Given the description of an element on the screen output the (x, y) to click on. 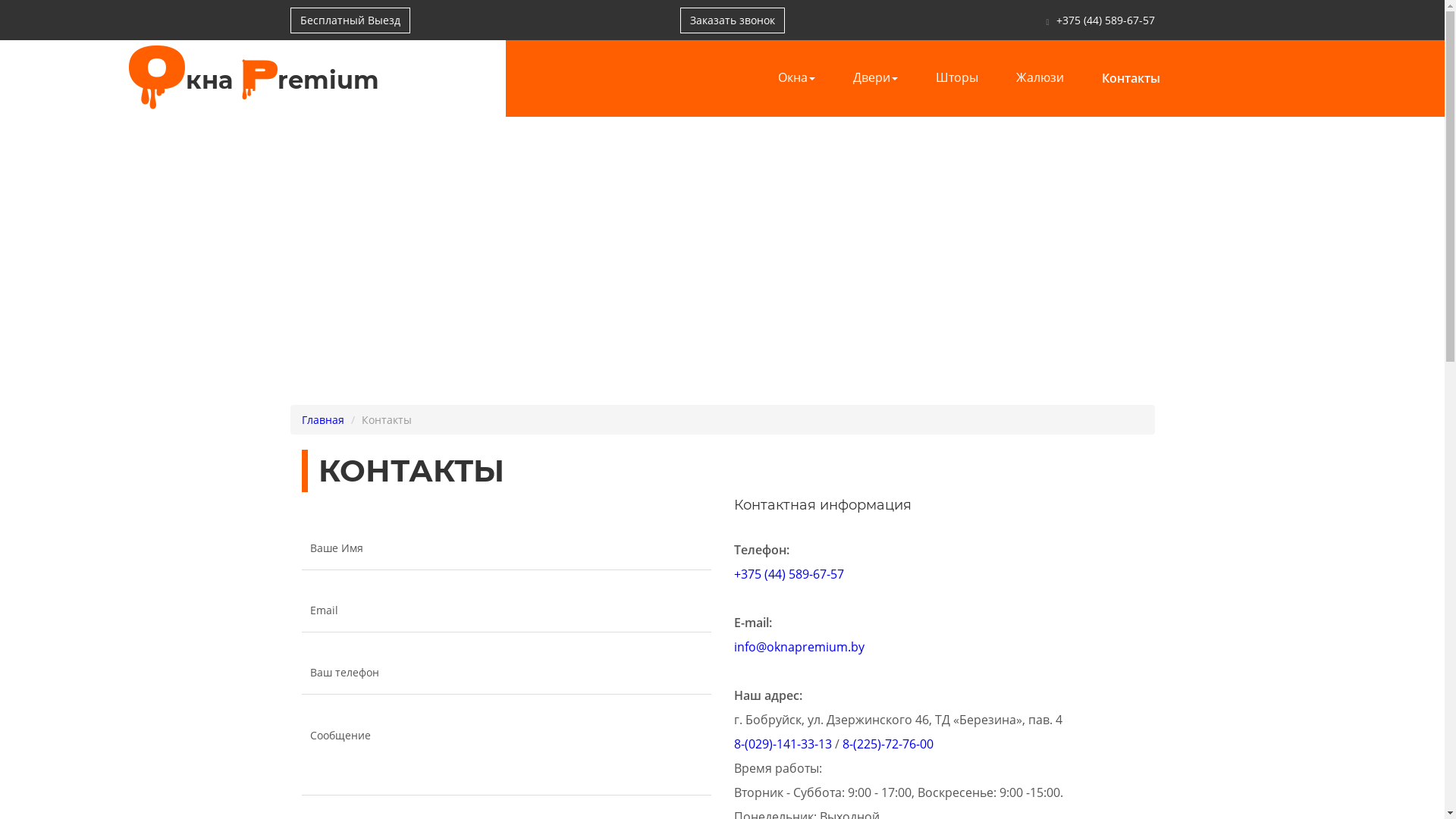
+375 (44) 589-67-57 Element type: text (1104, 19)
8-(225)-72-76-00 Element type: text (886, 743)
+375 (44) 589-67-57 Element type: text (789, 573)
info@oknapremium.by Element type: text (799, 646)
8-(029)-141-33-13 Element type: text (782, 743)
